Given the description of an element on the screen output the (x, y) to click on. 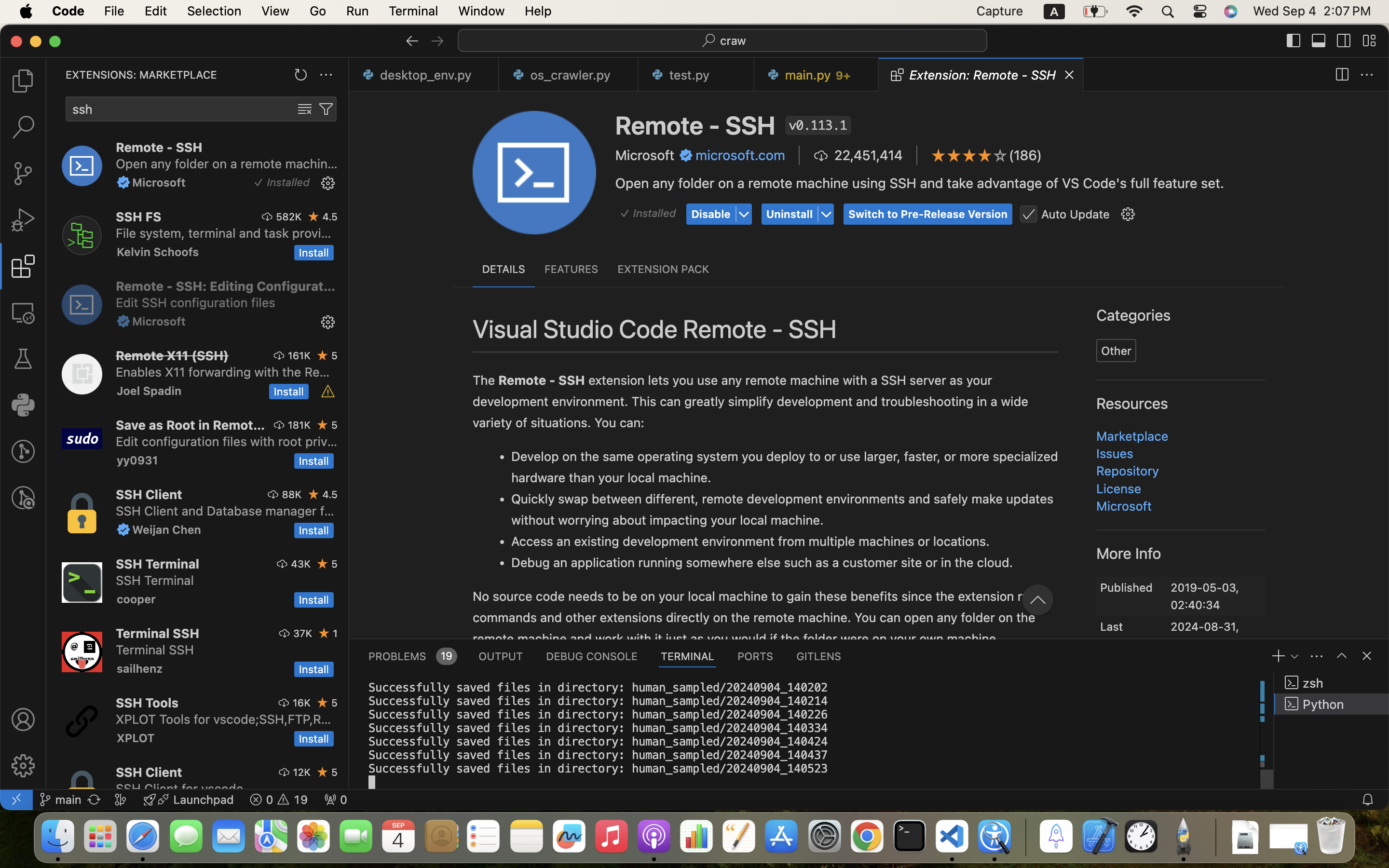
(186) Element type: AXStaticText (1025, 154)
Remote X11 (SSH) Element type: AXStaticText (172, 355)
 Element type: AXCheckBox (1293, 40)
0 os_crawler.py   Element type: AXRadioButton (568, 74)
Repository Element type: AXStaticText (1127, 470)
